Given the description of an element on the screen output the (x, y) to click on. 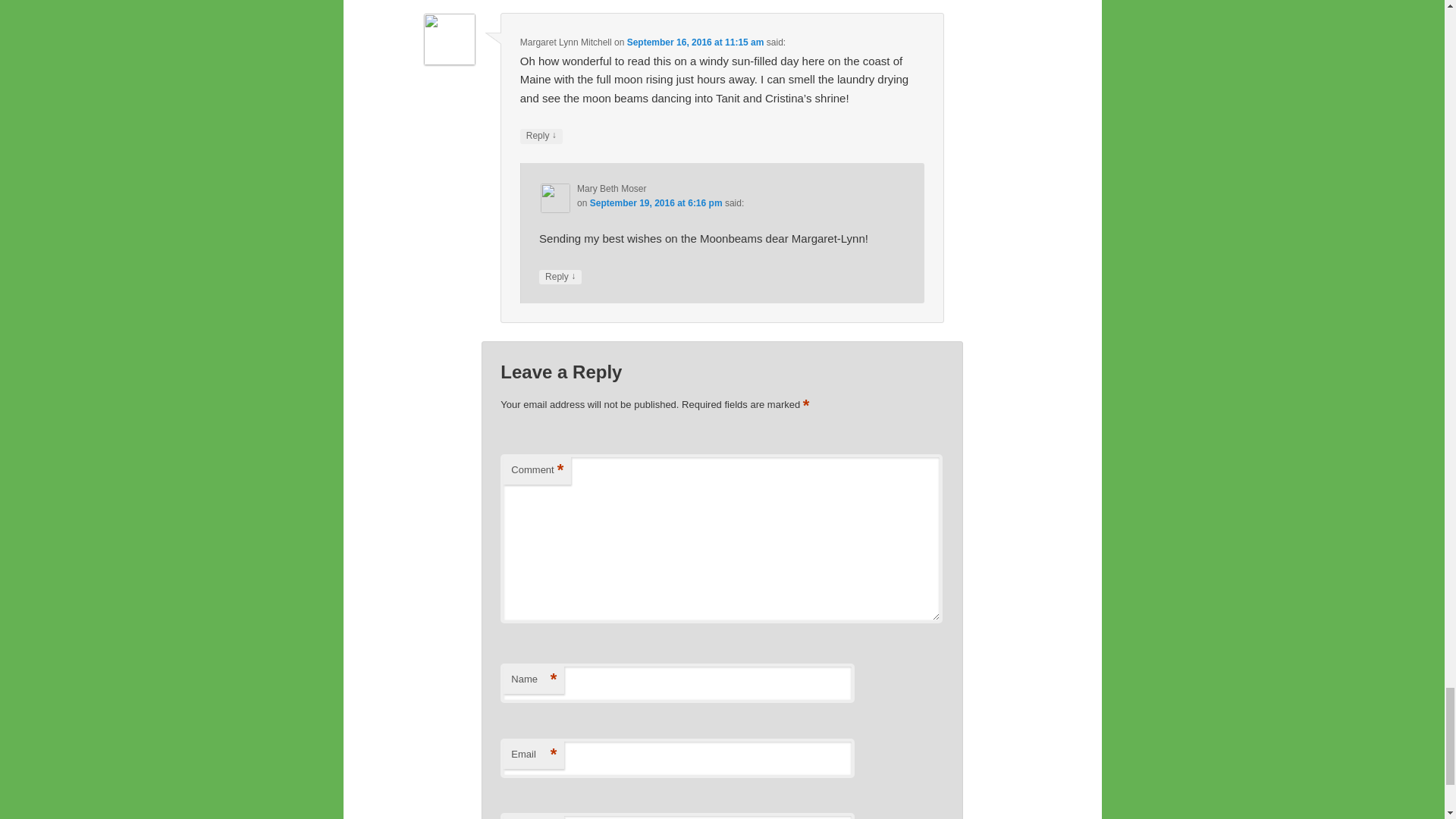
September 19, 2016 at 6:16 pm (655, 203)
September 16, 2016 at 11:15 am (695, 41)
